Given the description of an element on the screen output the (x, y) to click on. 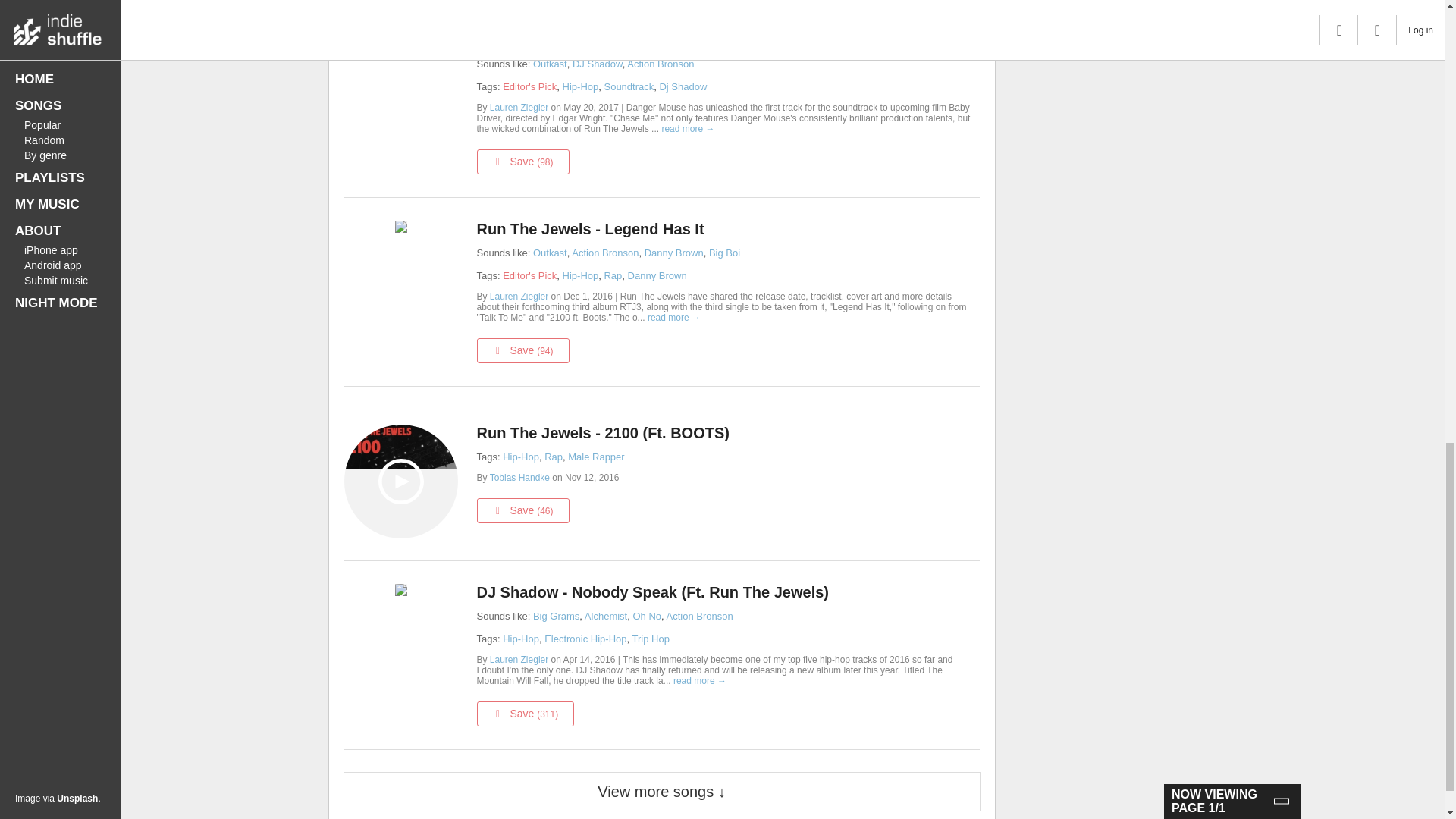
Hip-hop Songs (520, 456)
Electronic hip-hop Songs (585, 638)
Trip hop Songs (650, 638)
Outkast (549, 63)
Danny Brown (674, 252)
Rap (612, 275)
Soundtrack (628, 86)
Dj shadow Songs (682, 86)
Dj Shadow (682, 86)
Hip-hop Songs (580, 275)
Run The Jewels - Legend Has It (723, 229)
Action Bronson (660, 63)
Danny brown Songs (657, 275)
Lauren Ziegler (520, 107)
Soundtrack Songs (628, 86)
